Given the description of an element on the screen output the (x, y) to click on. 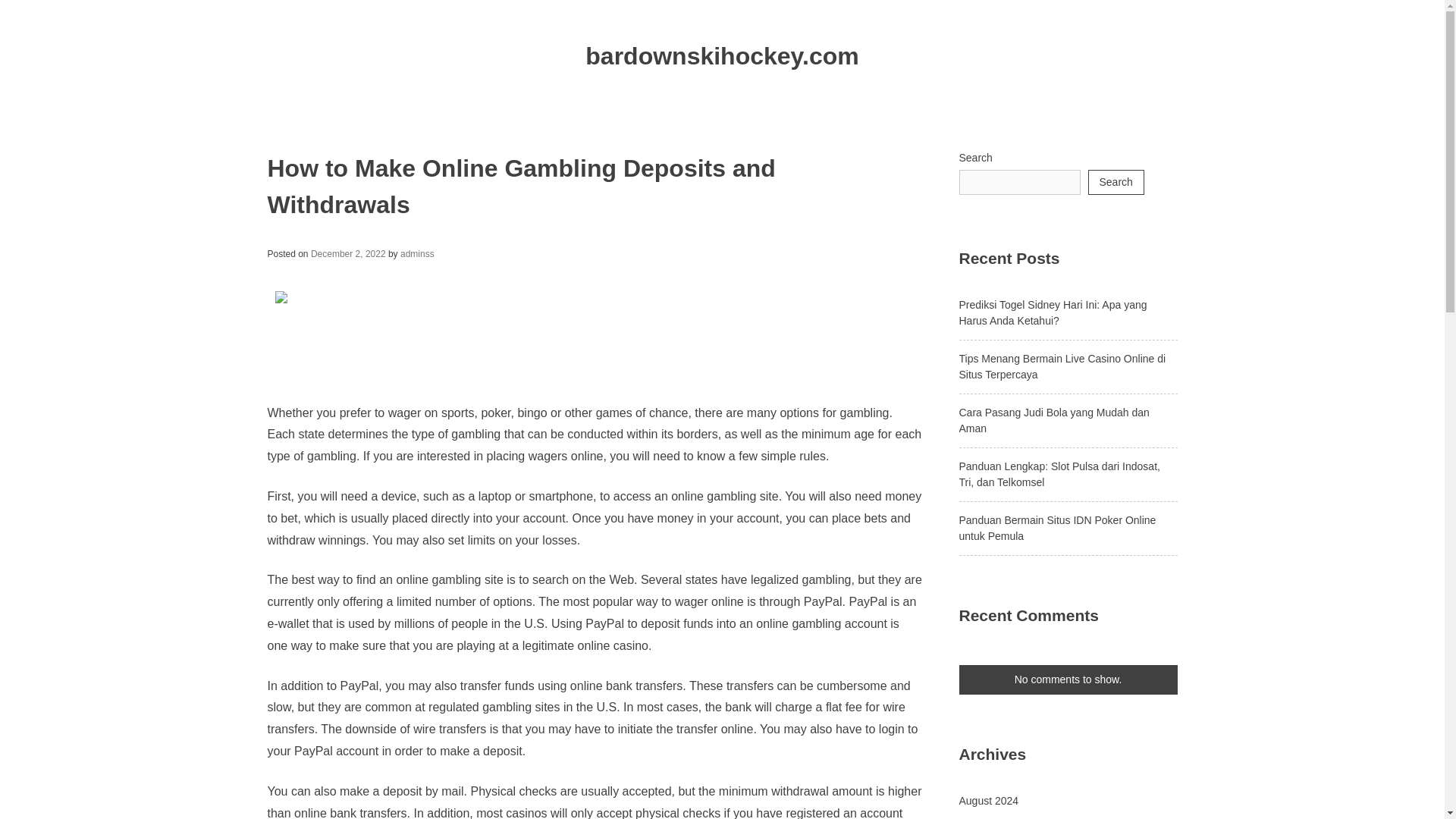
Search (1114, 181)
Panduan Lengkap: Slot Pulsa dari Indosat, Tri, dan Telkomsel (1058, 473)
Panduan Bermain Situs IDN Poker Online untuk Pemula (1057, 528)
Prediksi Togel Sidney Hari Ini: Apa yang Harus Anda Ketahui? (1052, 312)
Tips Menang Bermain Live Casino Online di Situs Terpercaya (1062, 366)
Cara Pasang Judi Bola yang Mudah dan Aman (1053, 420)
August 2024 (987, 800)
adminss (416, 253)
bardownskihockey.com (722, 55)
December 2, 2022 (348, 253)
